Given the description of an element on the screen output the (x, y) to click on. 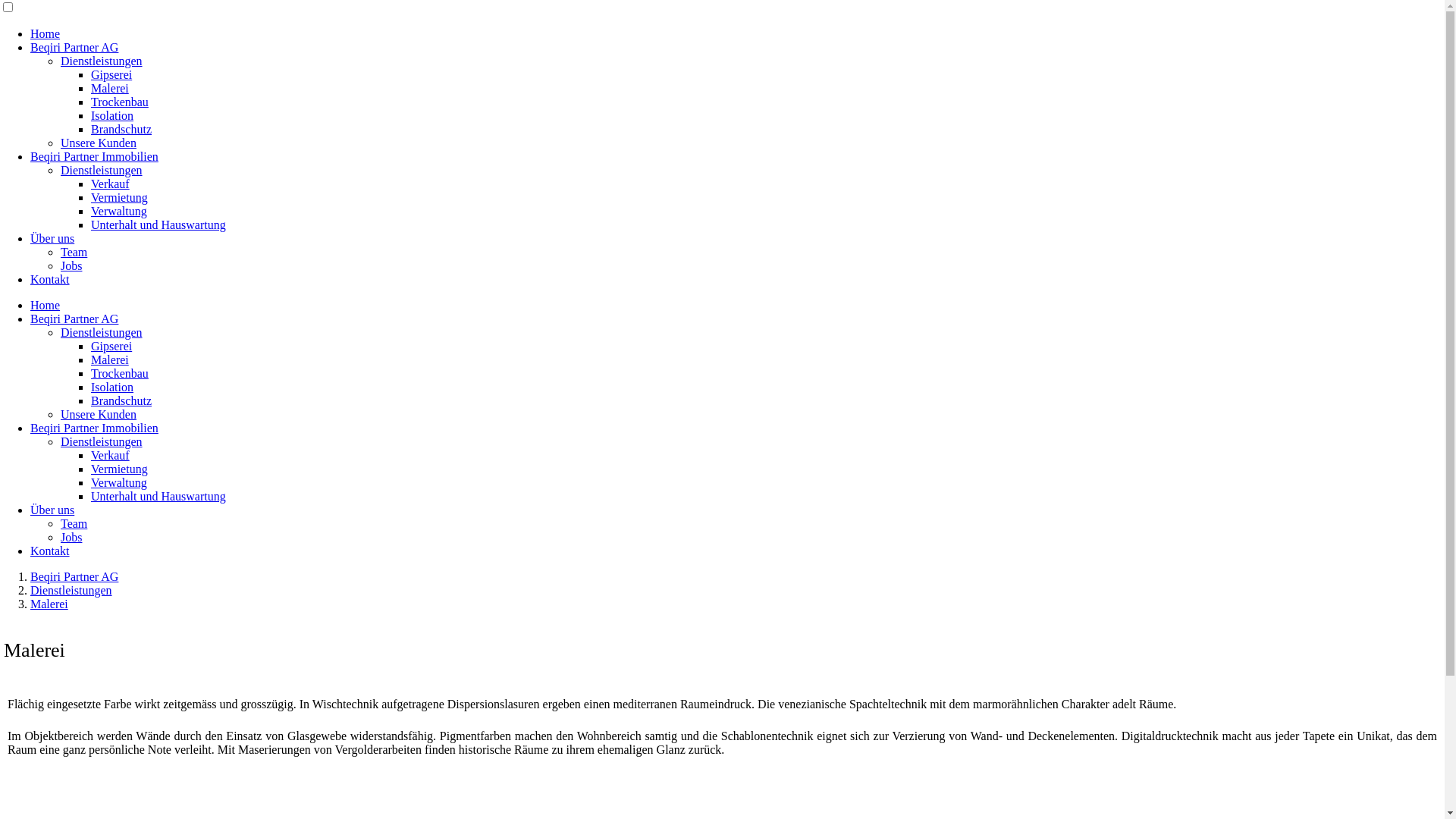
Jobs Element type: text (70, 265)
Beqiri Partner AG Element type: text (74, 318)
Malerei Element type: text (49, 603)
Home Element type: text (44, 304)
Gipserei Element type: text (111, 74)
Beqiri Partner Immobilien Element type: text (94, 156)
Kontakt Element type: text (49, 279)
Dienstleistungen Element type: text (101, 441)
Beqiri Partner AG Element type: text (74, 46)
Verkauf Element type: text (110, 454)
Isolation Element type: text (112, 115)
Beqiri Partner AG Element type: text (74, 576)
Home Element type: text (44, 33)
Unsere Kunden Element type: text (98, 413)
Verwaltung Element type: text (119, 482)
Malerei Element type: text (109, 87)
Unterhalt und Hauswartung Element type: text (158, 495)
Verwaltung Element type: text (119, 210)
Dienstleistungen Element type: text (101, 169)
Malerei Element type: text (109, 359)
Dienstleistungen Element type: text (71, 589)
Brandschutz Element type: text (121, 400)
Brandschutz Element type: text (121, 128)
Isolation Element type: text (112, 386)
Dienstleistungen Element type: text (101, 332)
Dienstleistungen Element type: text (101, 60)
Beqiri Partner Immobilien Element type: text (94, 427)
Team Element type: text (73, 251)
Gipserei Element type: text (111, 345)
Team Element type: text (73, 523)
Jobs Element type: text (70, 536)
Verkauf Element type: text (110, 183)
Vermietung Element type: text (119, 197)
Trockenbau Element type: text (119, 373)
Kontakt Element type: text (49, 550)
Unterhalt und Hauswartung Element type: text (158, 224)
Vermietung Element type: text (119, 468)
Unsere Kunden Element type: text (98, 142)
Trockenbau Element type: text (119, 101)
